Given the description of an element on the screen output the (x, y) to click on. 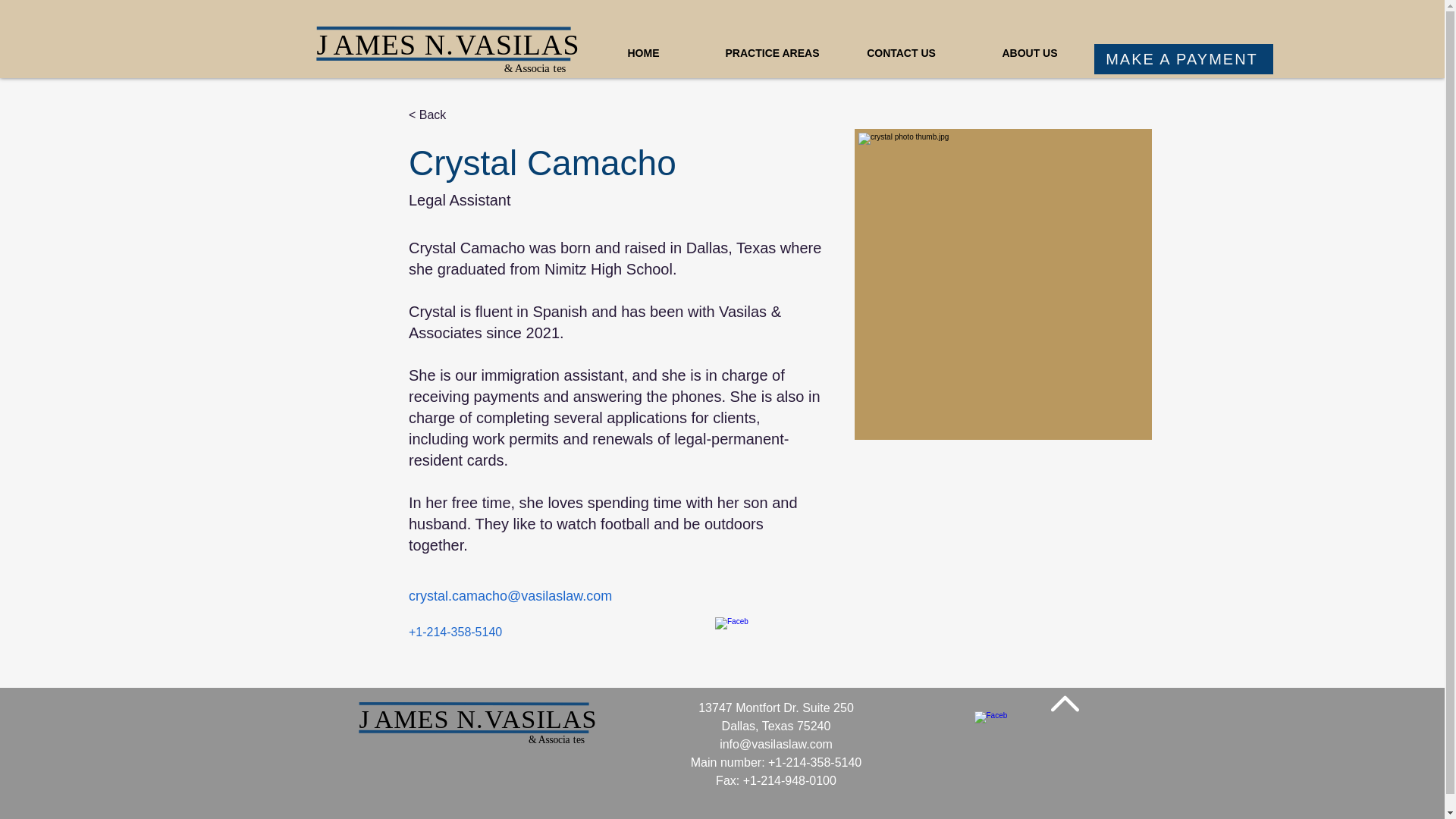
ABOUT US (1030, 46)
HOME (643, 46)
MAKE A PAYMENT (1182, 59)
CONTACT US (901, 46)
